Given the description of an element on the screen output the (x, y) to click on. 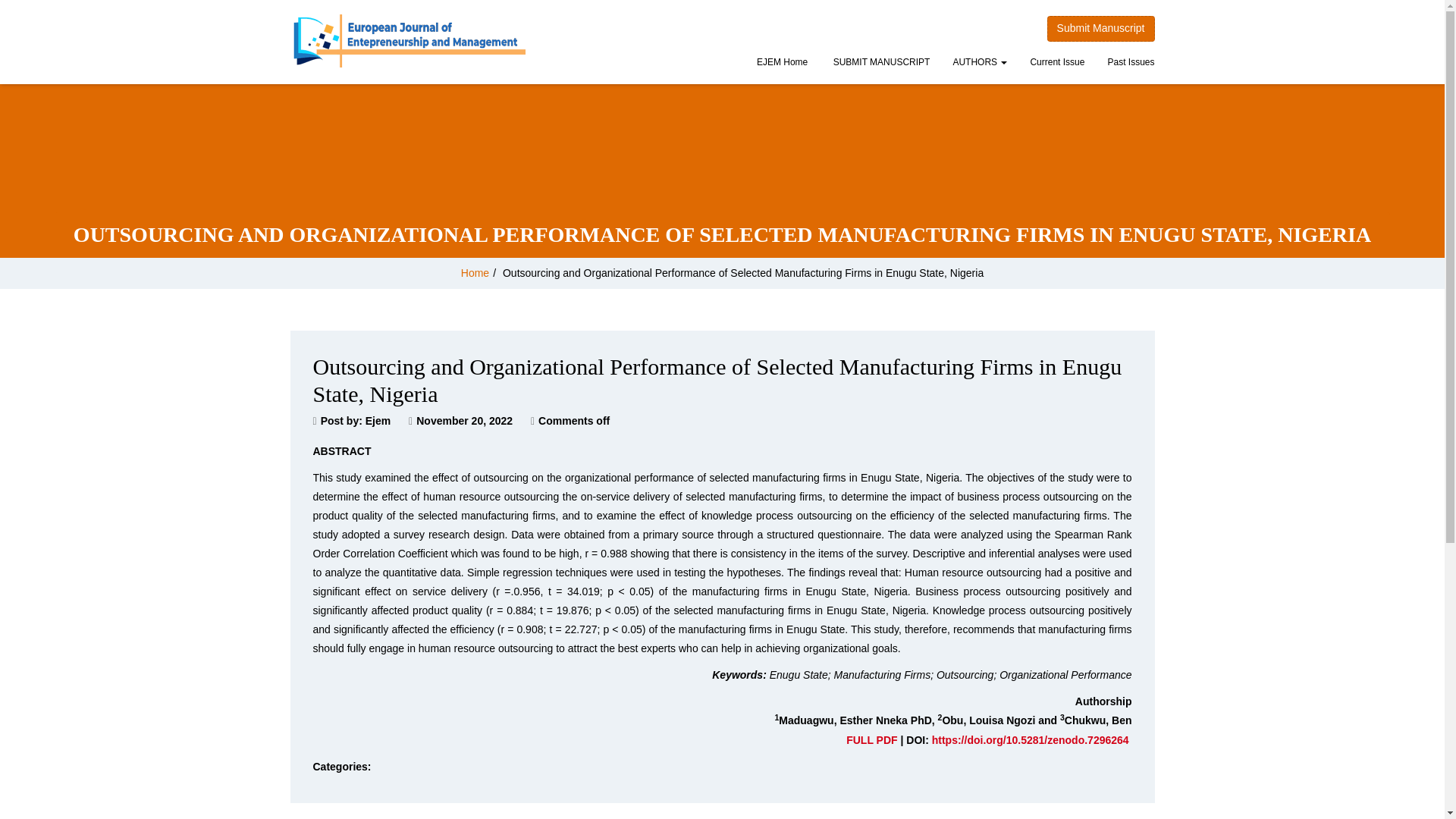
AUTHORS (978, 63)
Past Issues (1131, 63)
EJEM Home (781, 63)
Ejem (377, 420)
 SUBMIT MANUSCRIPT (879, 63)
FULL PDF (870, 739)
Current Issue (1056, 63)
EJEM Home (781, 63)
AIR JOURNALS (879, 63)
European Journal of Entrepreneurship and Management (408, 40)
